Given the description of an element on the screen output the (x, y) to click on. 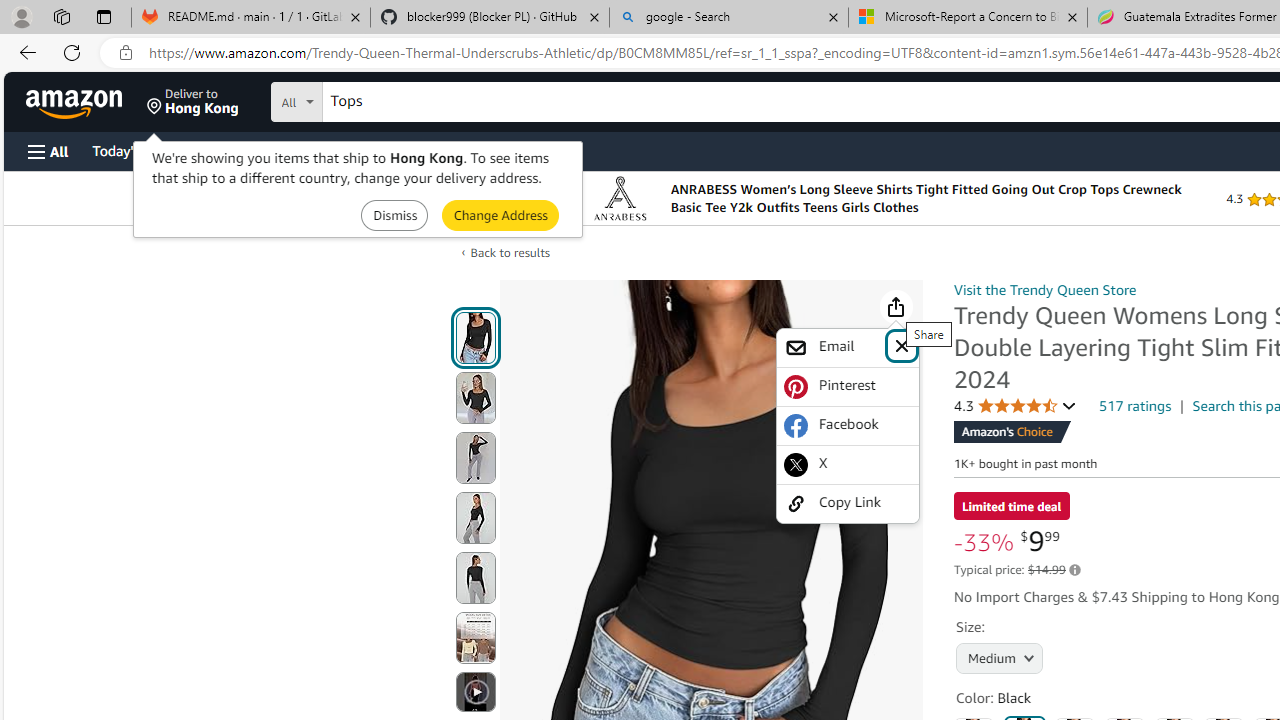
Customer Service (256, 150)
Deliver to Hong Kong (193, 101)
X (847, 464)
X (848, 464)
